Given the description of an element on the screen output the (x, y) to click on. 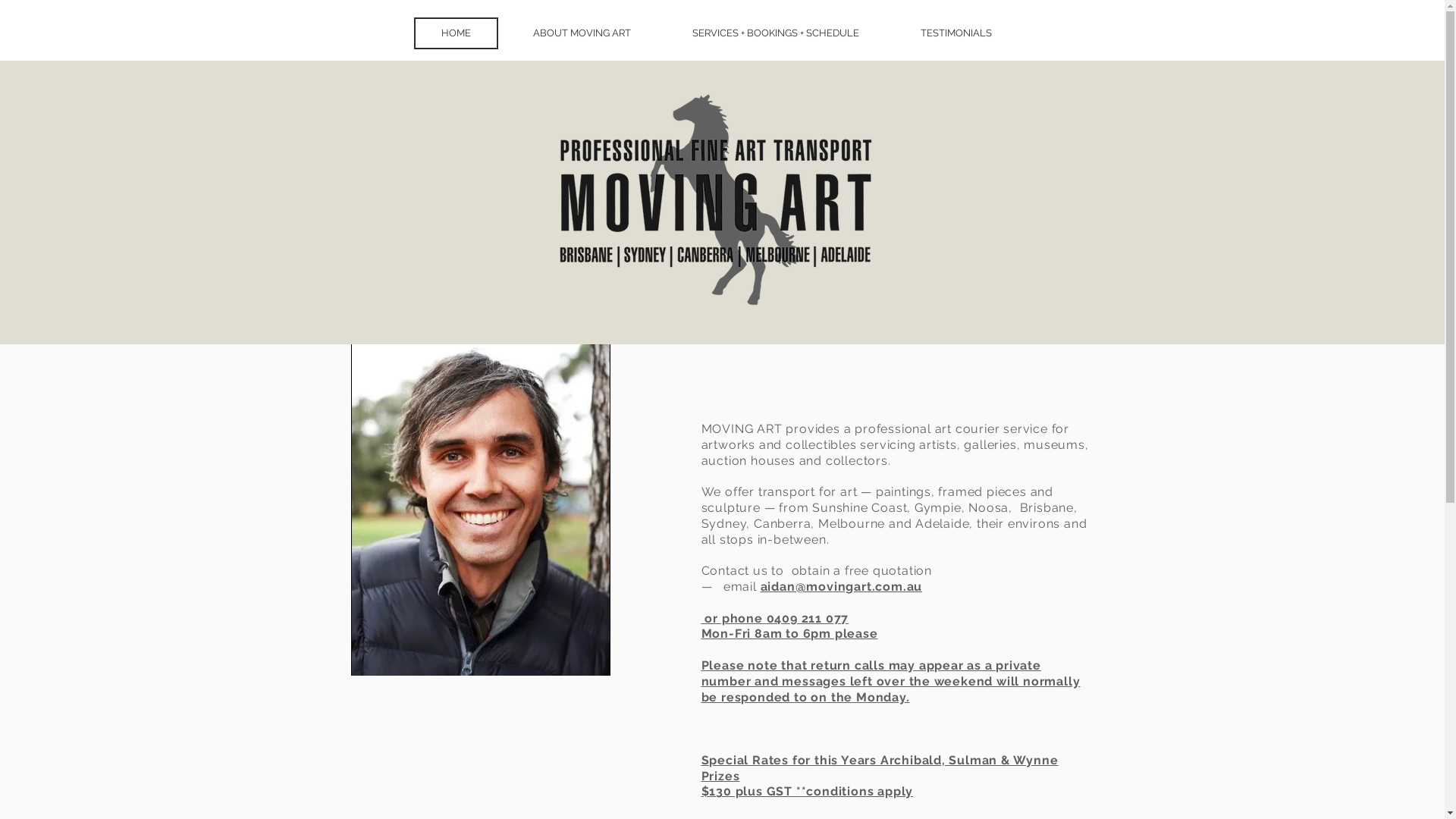
Mon-Fri 8am to 6pm please Element type: text (788, 633)
aidan@movingart.com.au Element type: text (840, 586)
 or phone Element type: text (731, 618)
Aidan Hill.jpg Element type: hover (479, 509)
ABOUT MOVING ART Element type: text (581, 33)
HOME Element type: text (456, 33)
  Element type: text (764, 618)
0409 211 077 Element type: text (807, 618)
TESTIMONIALS Element type: text (955, 33)
